Given the description of an element on the screen output the (x, y) to click on. 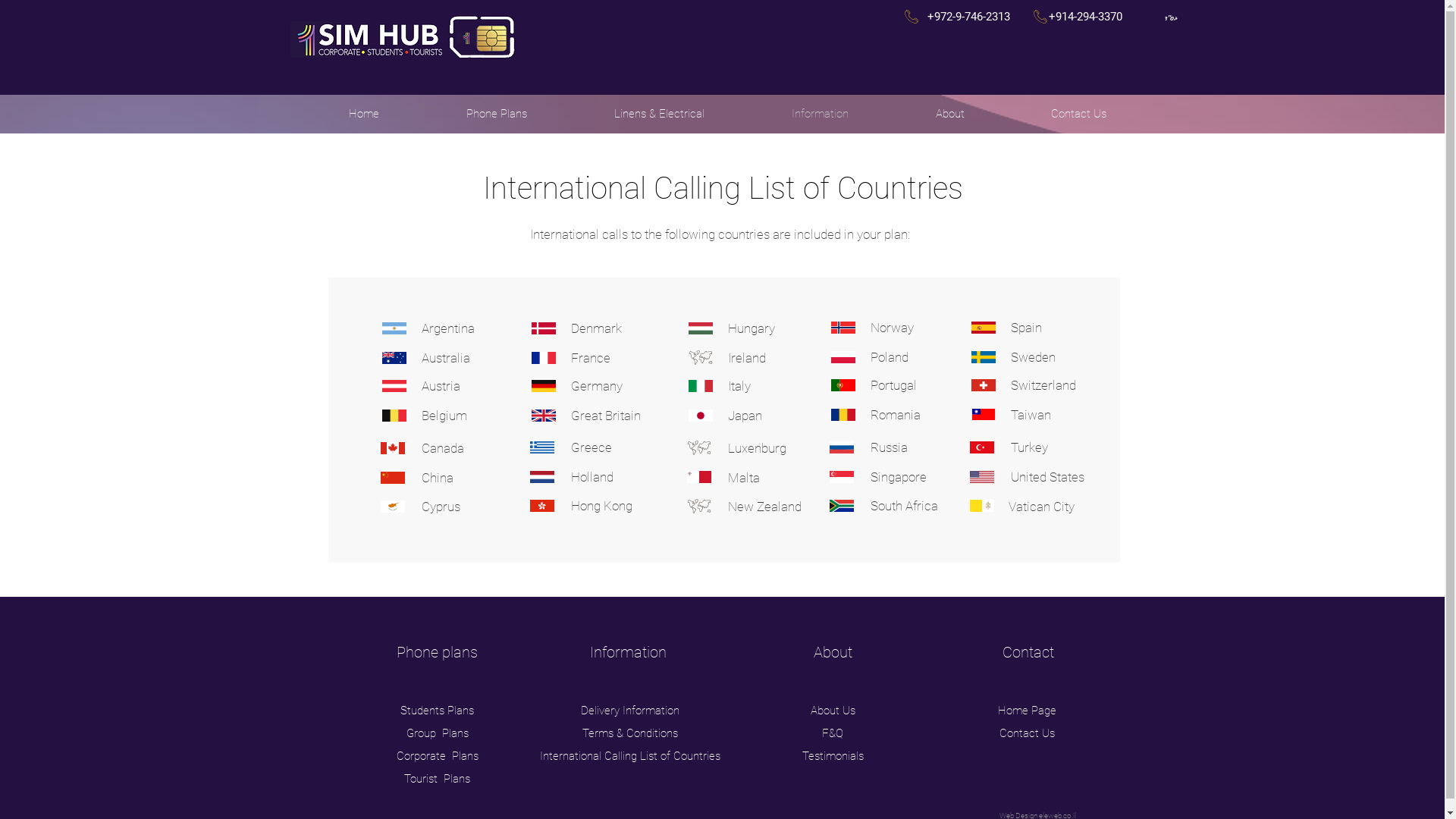
F&Q Element type: text (832, 733)
About Us Element type: text (831, 710)
Students Plans Element type: text (436, 710)
Contact Us Element type: text (1077, 113)
Group  Plans Element type: text (437, 733)
International Calling List of Countries Element type: text (629, 755)
Delivery Information Element type: text (629, 710)
Contact Us Element type: text (1026, 733)
Tourist  Plans Element type: text (437, 778)
Home Page Element type: text (1026, 710)
Linens & Electrical Element type: text (658, 113)
Terms & Conditions Element type: text (629, 733)
Testimonials Element type: text (832, 755)
Information Element type: text (819, 113)
Corporate  Plans Element type: text (436, 755)
Home Element type: text (363, 113)
